Given the description of an element on the screen output the (x, y) to click on. 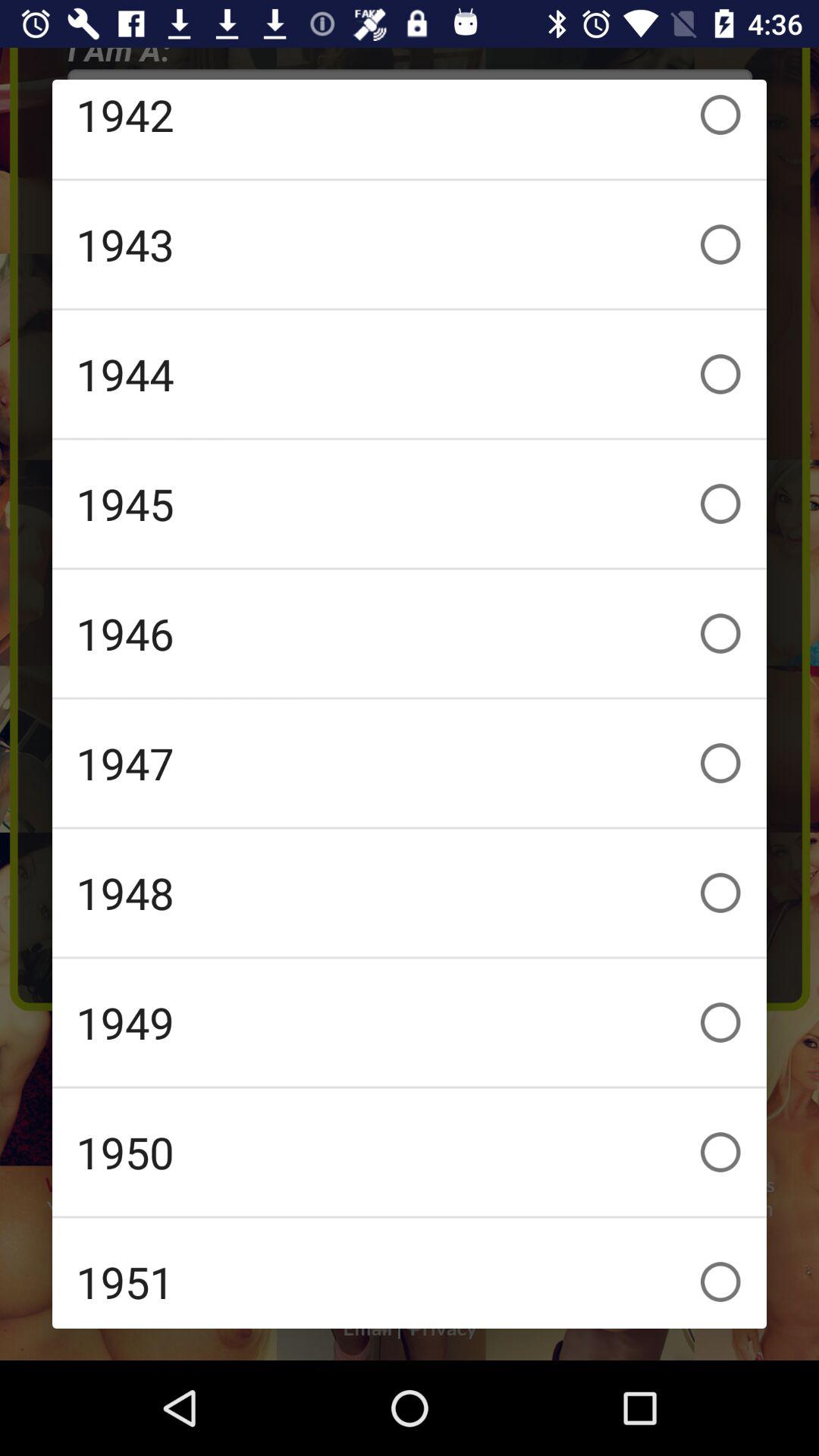
scroll to the 1946 item (409, 633)
